Given the description of an element on the screen output the (x, y) to click on. 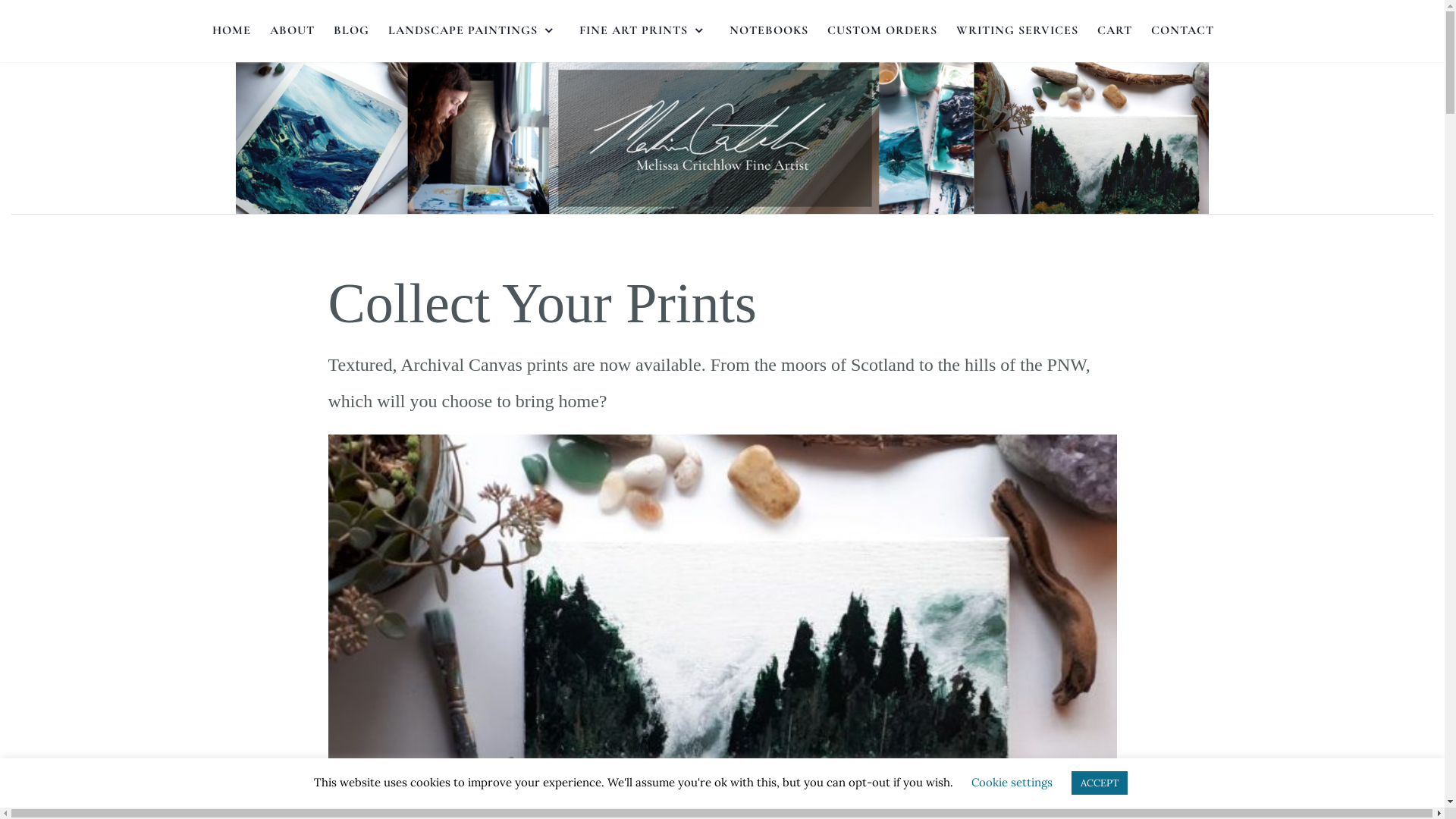
BLOG Element type: text (351, 31)
NOTEBOOKS Element type: text (768, 31)
ACCEPT Element type: text (1098, 782)
WRITING SERVICES Element type: text (1016, 31)
FINE ART PRINTS Element type: text (644, 31)
CONTACT Element type: text (1182, 31)
ABOUT Element type: text (291, 31)
Cookie settings Element type: text (1010, 782)
CUSTOM ORDERS Element type: text (881, 31)
CART Element type: text (1113, 31)
LANDSCAPE PAINTINGS Element type: text (474, 31)
HOME Element type: text (231, 31)
